Given the description of an element on the screen output the (x, y) to click on. 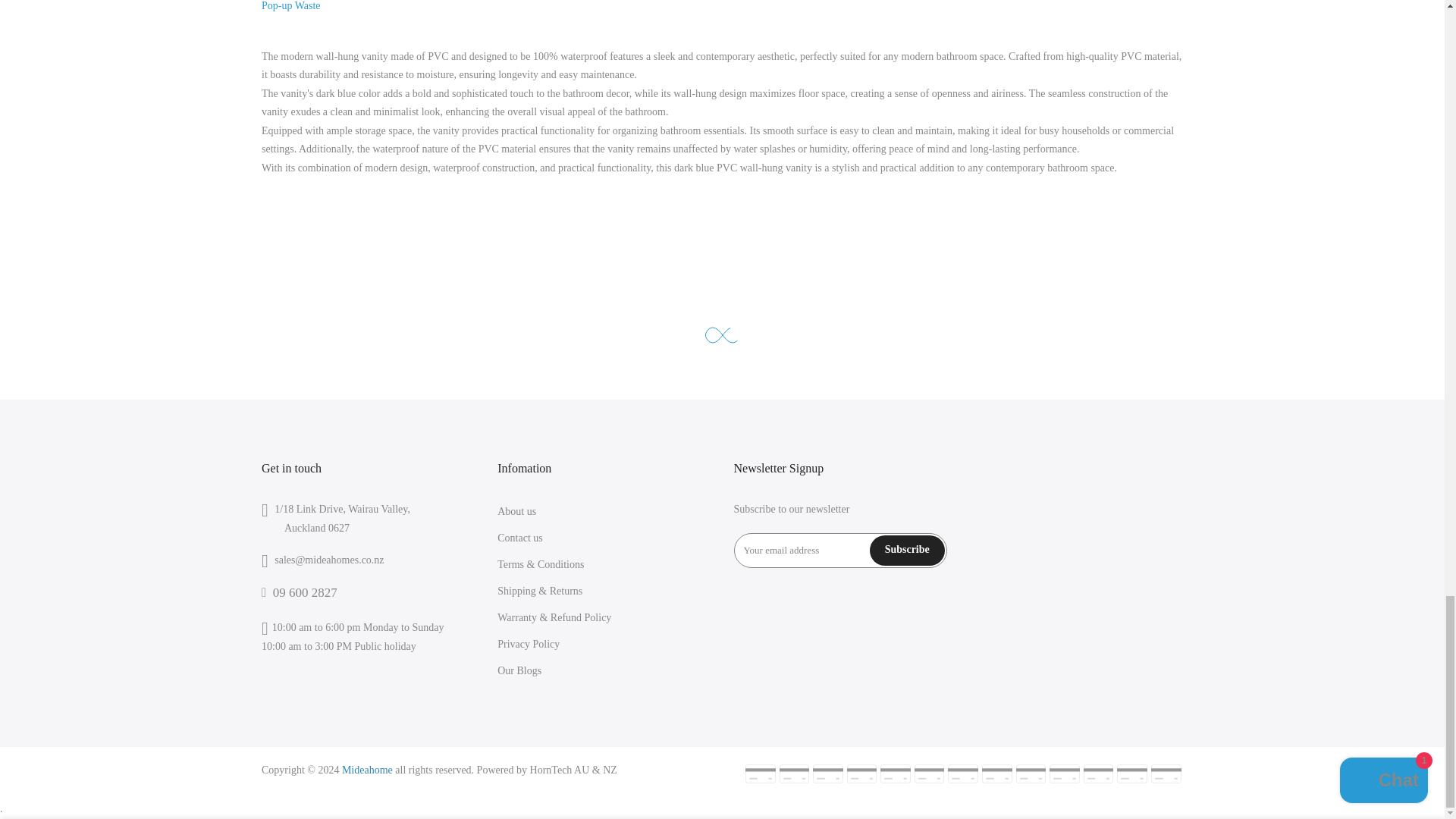
Expert SEO and Web Design Services in Australia by HornTech (559, 769)
